Given the description of an element on the screen output the (x, y) to click on. 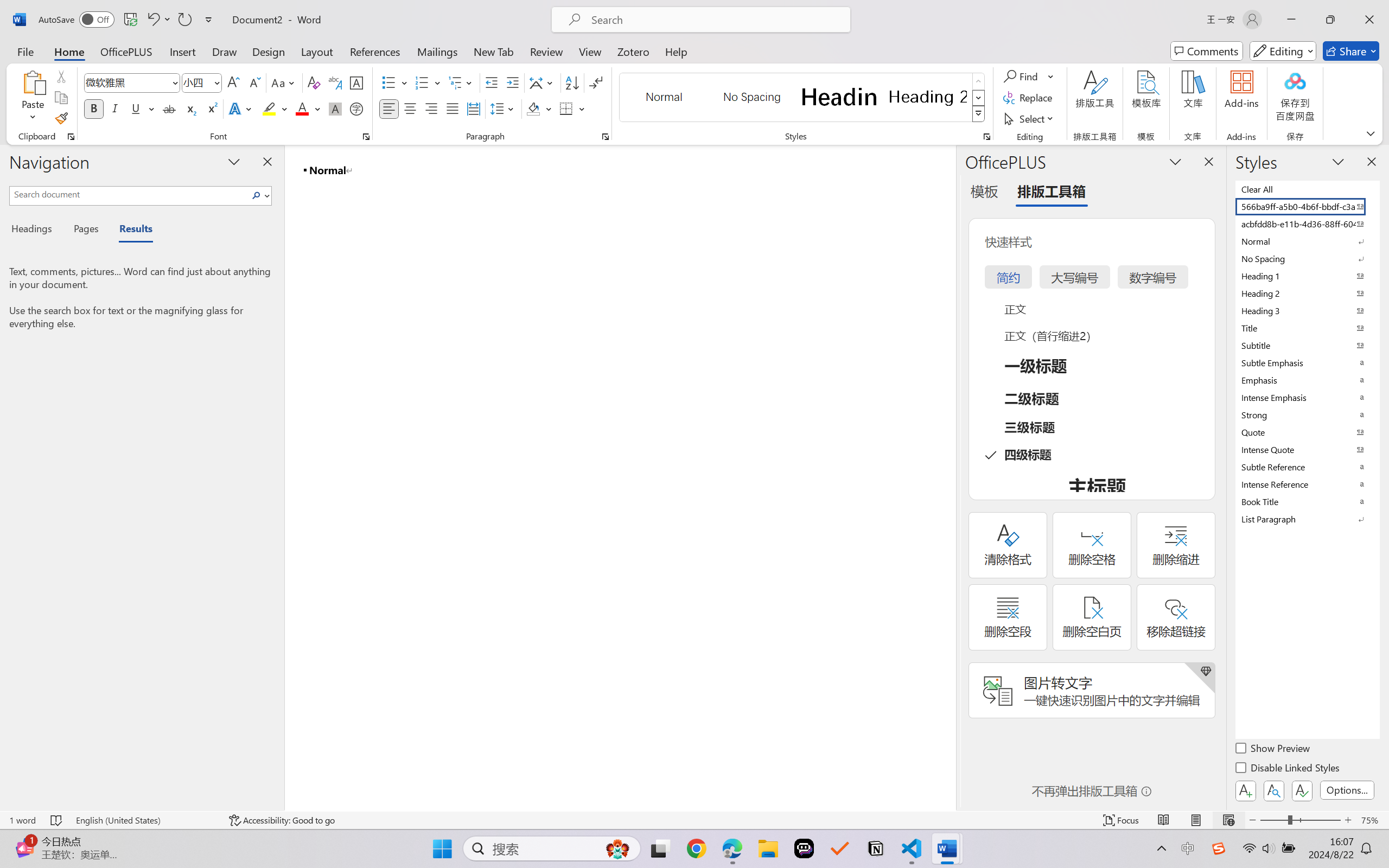
Align Right (431, 108)
Design (268, 51)
Customize Quick Access Toolbar (208, 19)
Subscript (190, 108)
Accessibility Checker Accessibility: Good to go (282, 819)
Word Count 1 word (21, 819)
Open (215, 82)
Copy (60, 97)
Phonetic Guide... (334, 82)
Underline (142, 108)
